Given the description of an element on the screen output the (x, y) to click on. 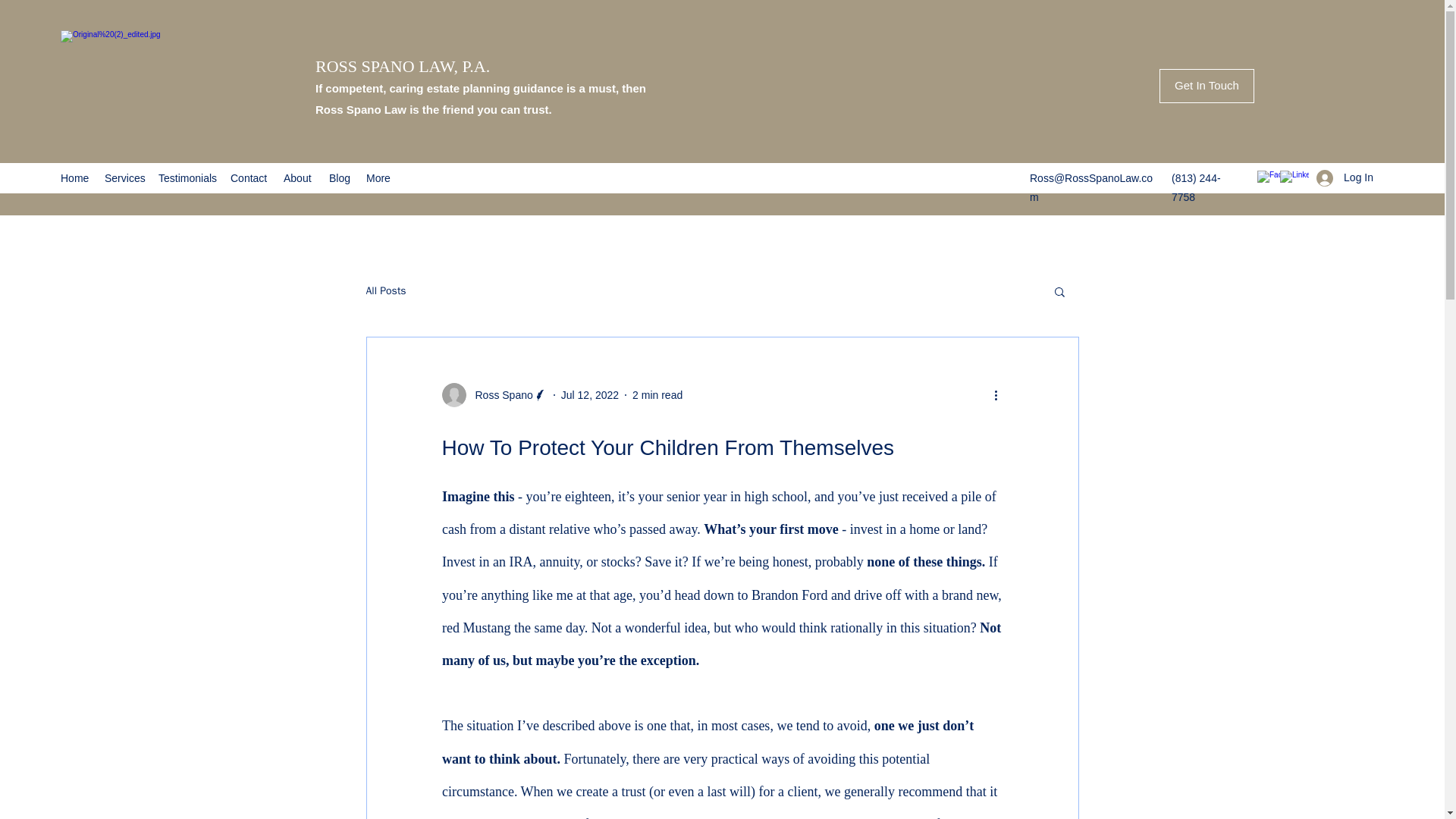
Get In Touch (1205, 85)
Jul 12, 2022 (589, 395)
2 min read (656, 395)
About (298, 178)
Ross Spano (494, 395)
Testimonials (186, 178)
Ross Spano (498, 395)
Blog (339, 178)
Services (124, 178)
Log In (1345, 177)
All Posts (385, 291)
Contact (249, 178)
Home (74, 178)
